Given the description of an element on the screen output the (x, y) to click on. 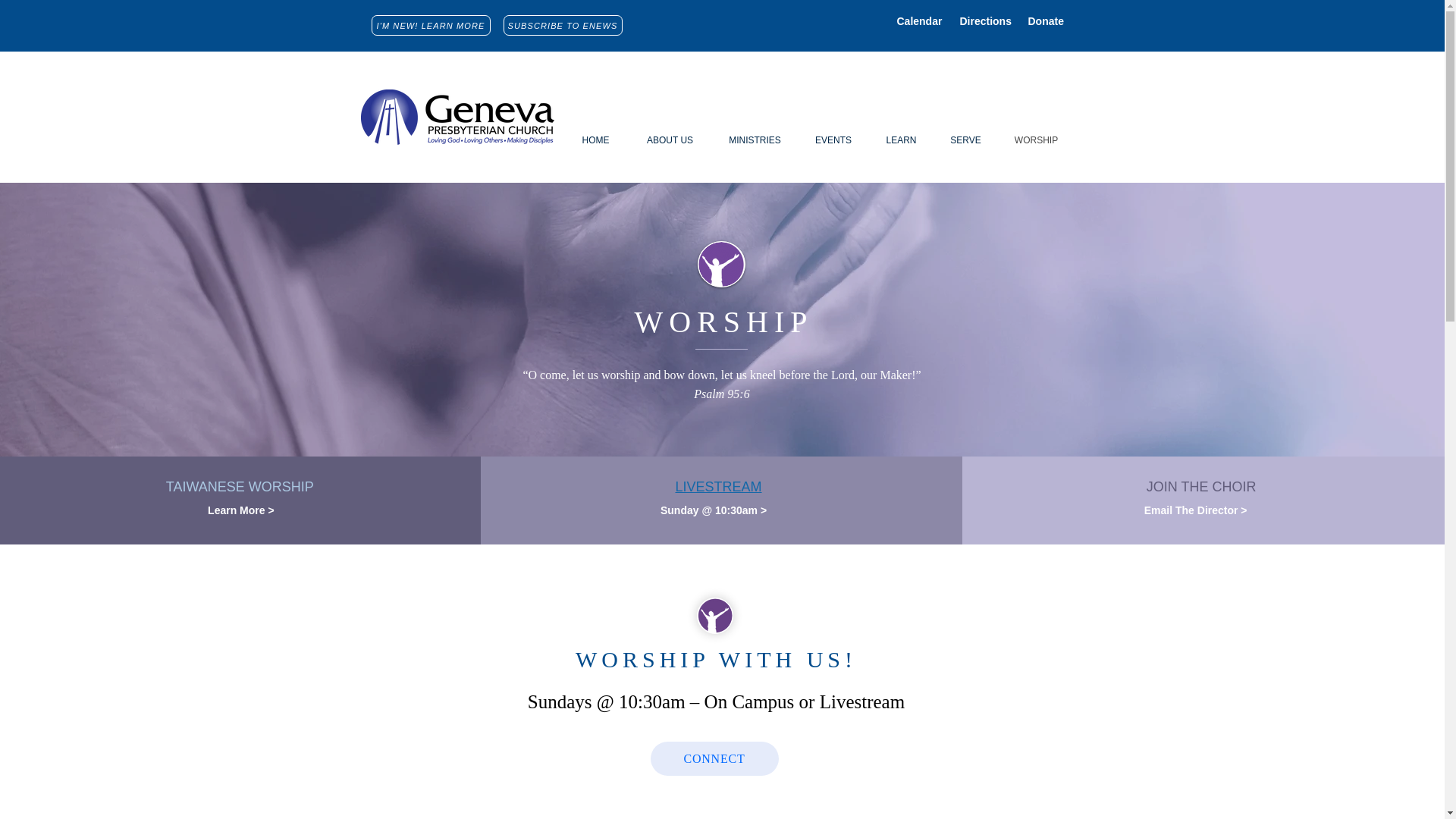
LEARN (901, 139)
EVENTS (832, 139)
Donate (1045, 21)
Calendar (919, 21)
CONNECT (714, 758)
LIVESTREAM (718, 486)
SERVE (965, 139)
Directions (985, 21)
WORSHIP (1036, 139)
HOME (594, 139)
